Given the description of an element on the screen output the (x, y) to click on. 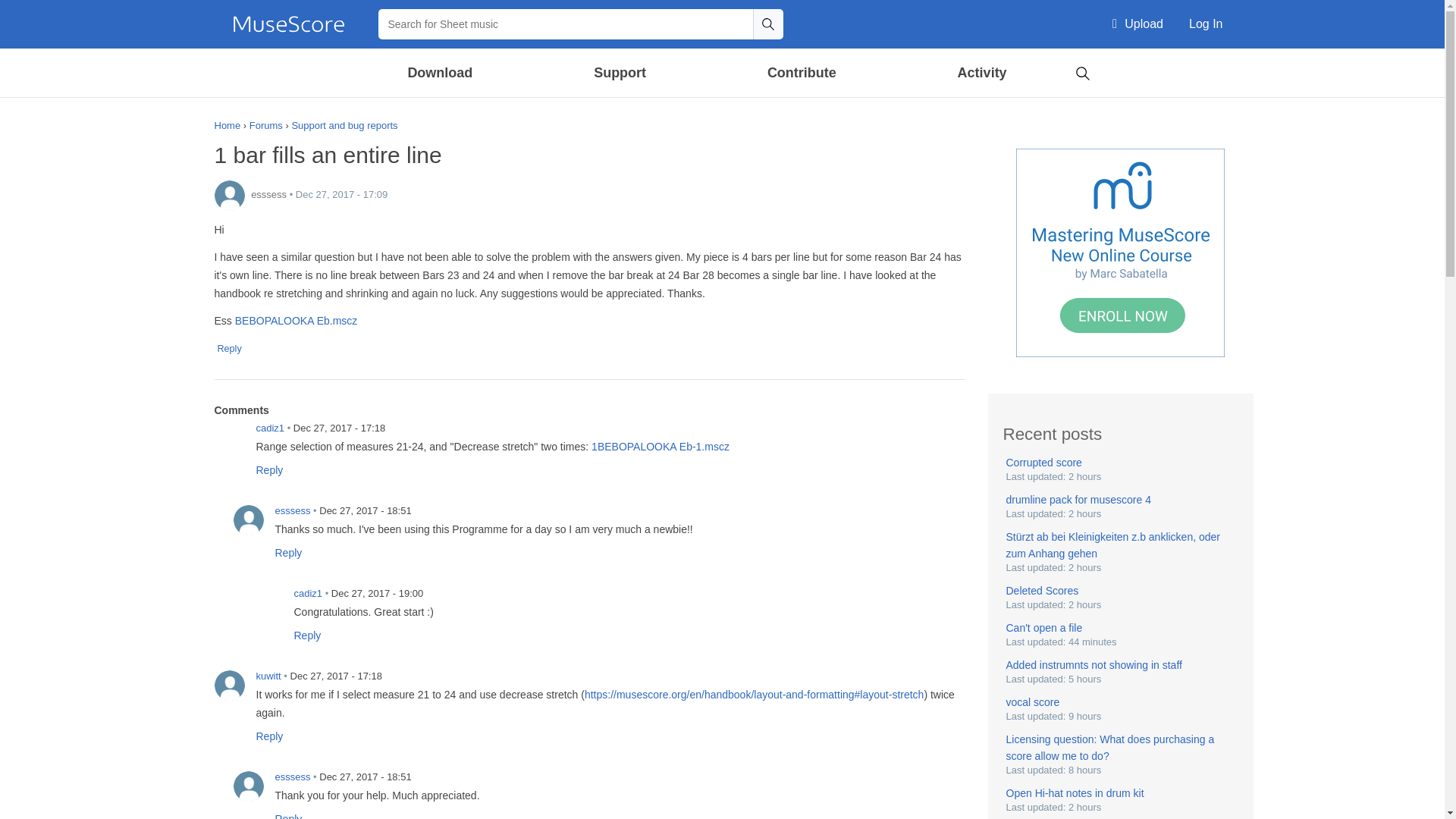
cadiz1 (229, 437)
Upload (1137, 24)
Contribute (801, 72)
esssess (229, 195)
Search (767, 24)
Download (440, 72)
Log In (1205, 24)
cadiz1 (266, 603)
Home (287, 23)
MuseScore (287, 23)
esssess (247, 786)
Search (1082, 71)
Search (767, 24)
Support (619, 72)
